Given the description of an element on the screen output the (x, y) to click on. 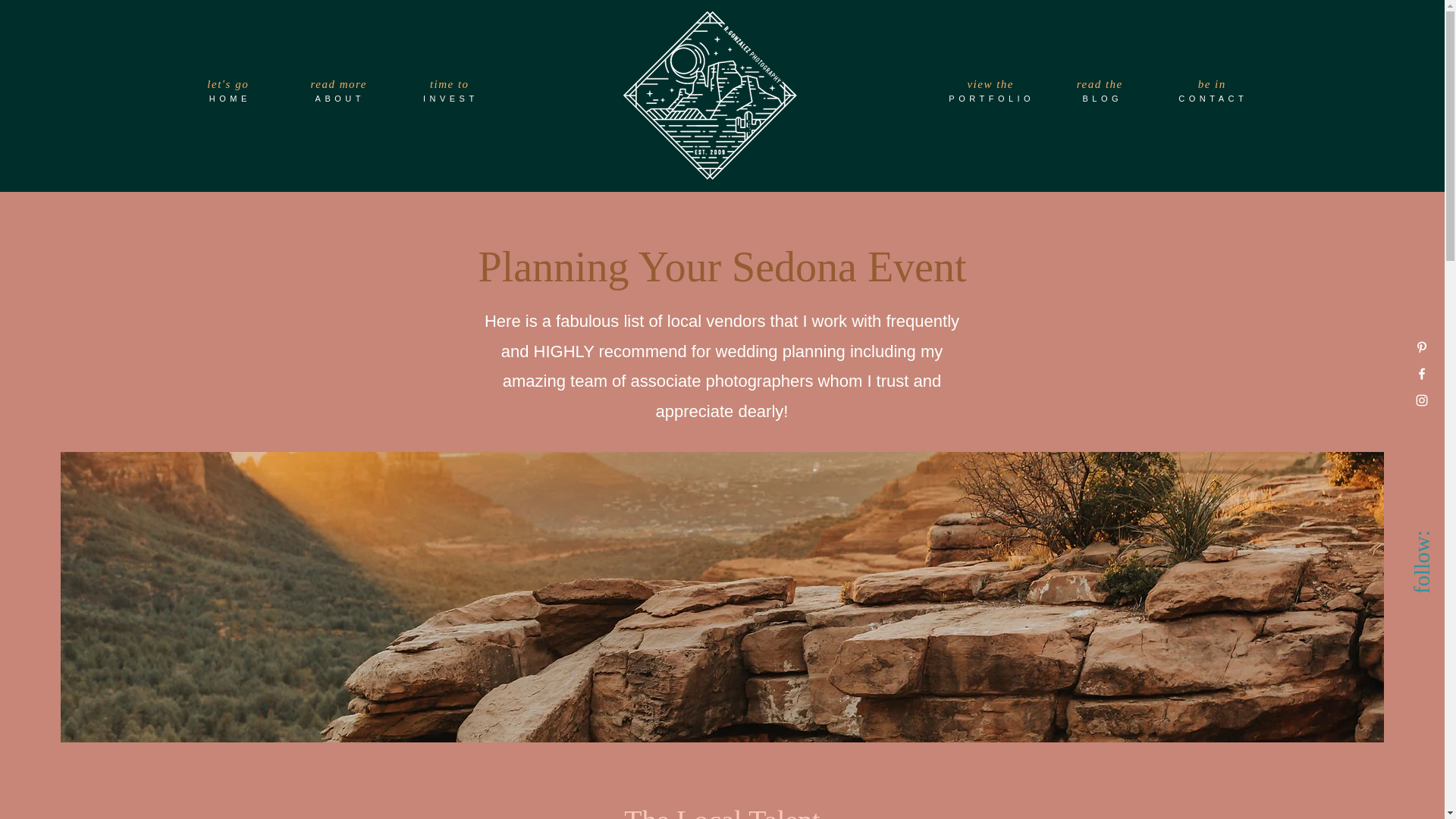
BLOG (1103, 98)
PORTFOLIO (992, 98)
CONTACT (1213, 98)
rh-logo-sec-3-web.png (709, 95)
INVEST (451, 98)
ABOUT (340, 98)
HOME (231, 98)
